Given the description of an element on the screen output the (x, y) to click on. 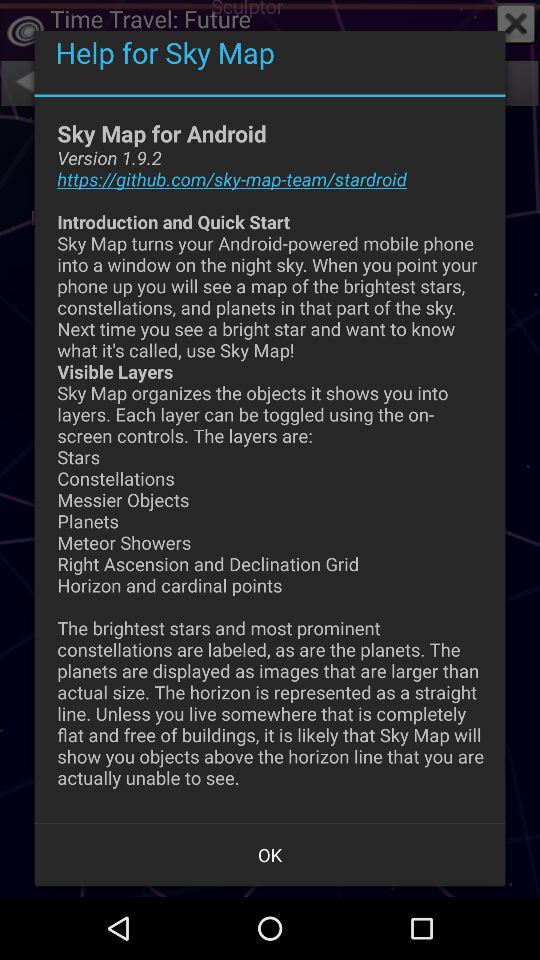
tap the item at the bottom (269, 854)
